Given the description of an element on the screen output the (x, y) to click on. 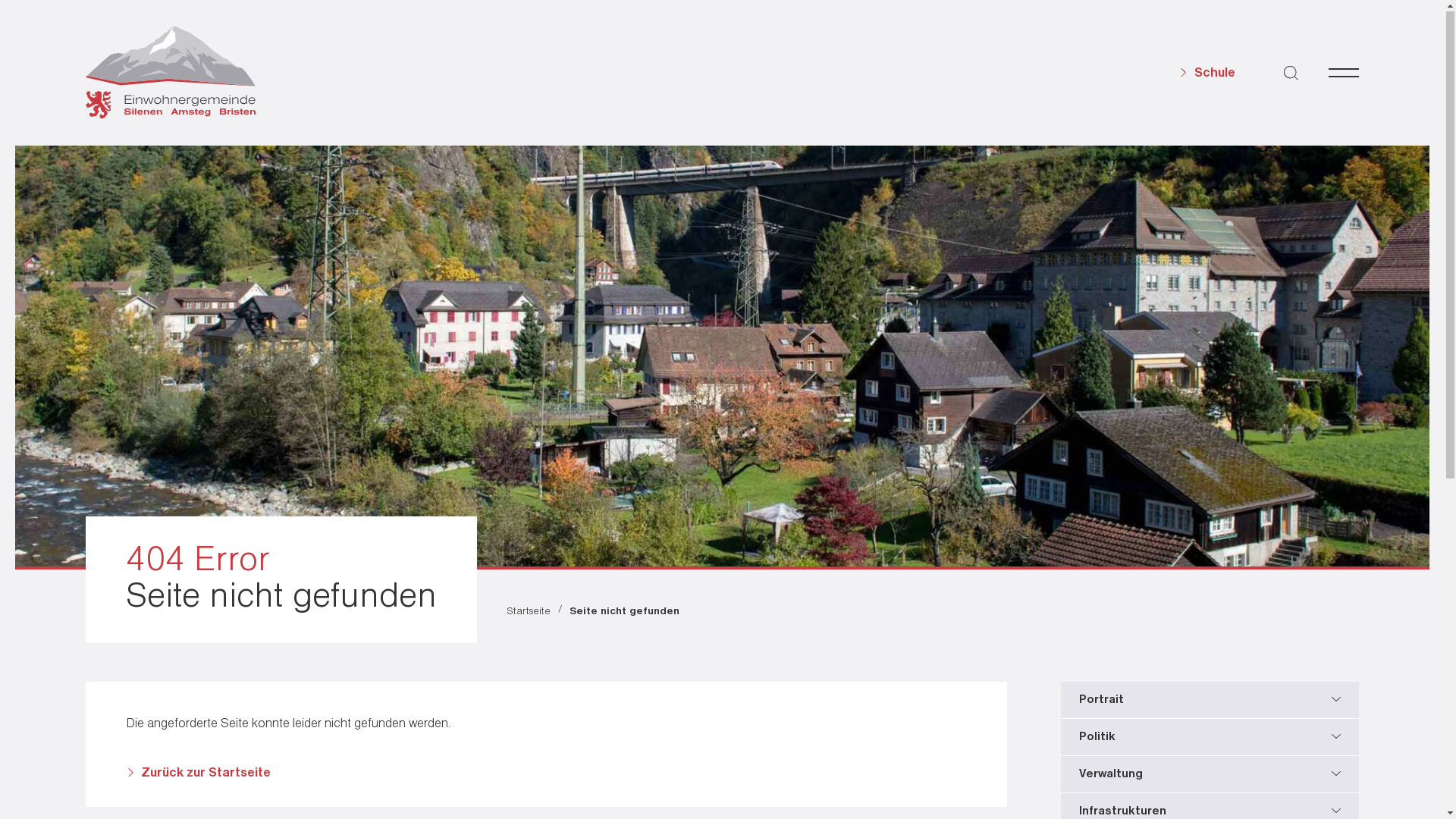
Schule Element type: text (1207, 74)
